Given the description of an element on the screen output the (x, y) to click on. 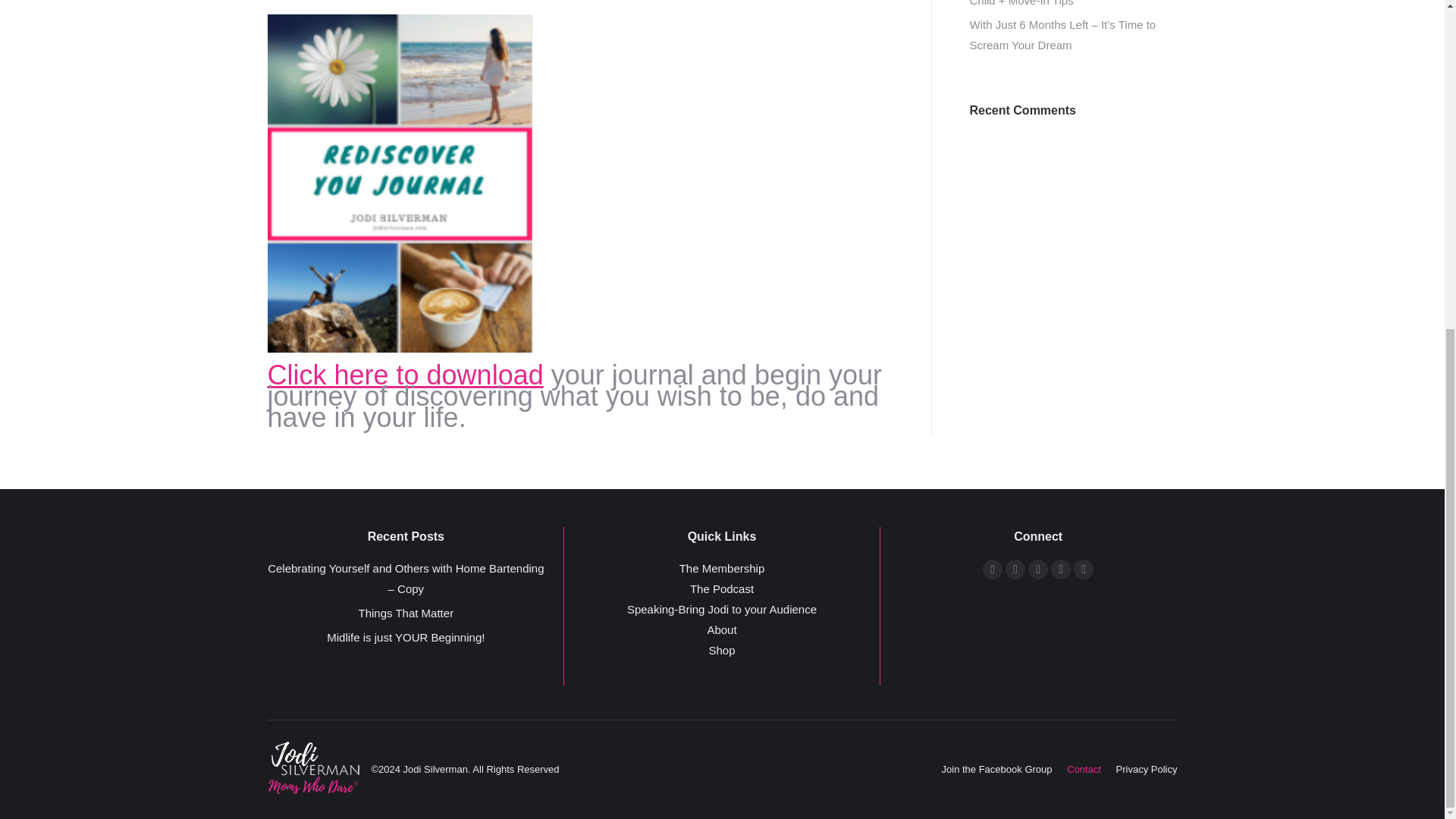
Facebook page opens in new window (992, 569)
Click here to download (404, 374)
YouTube page opens in new window (1015, 569)
